Given the description of an element on the screen output the (x, y) to click on. 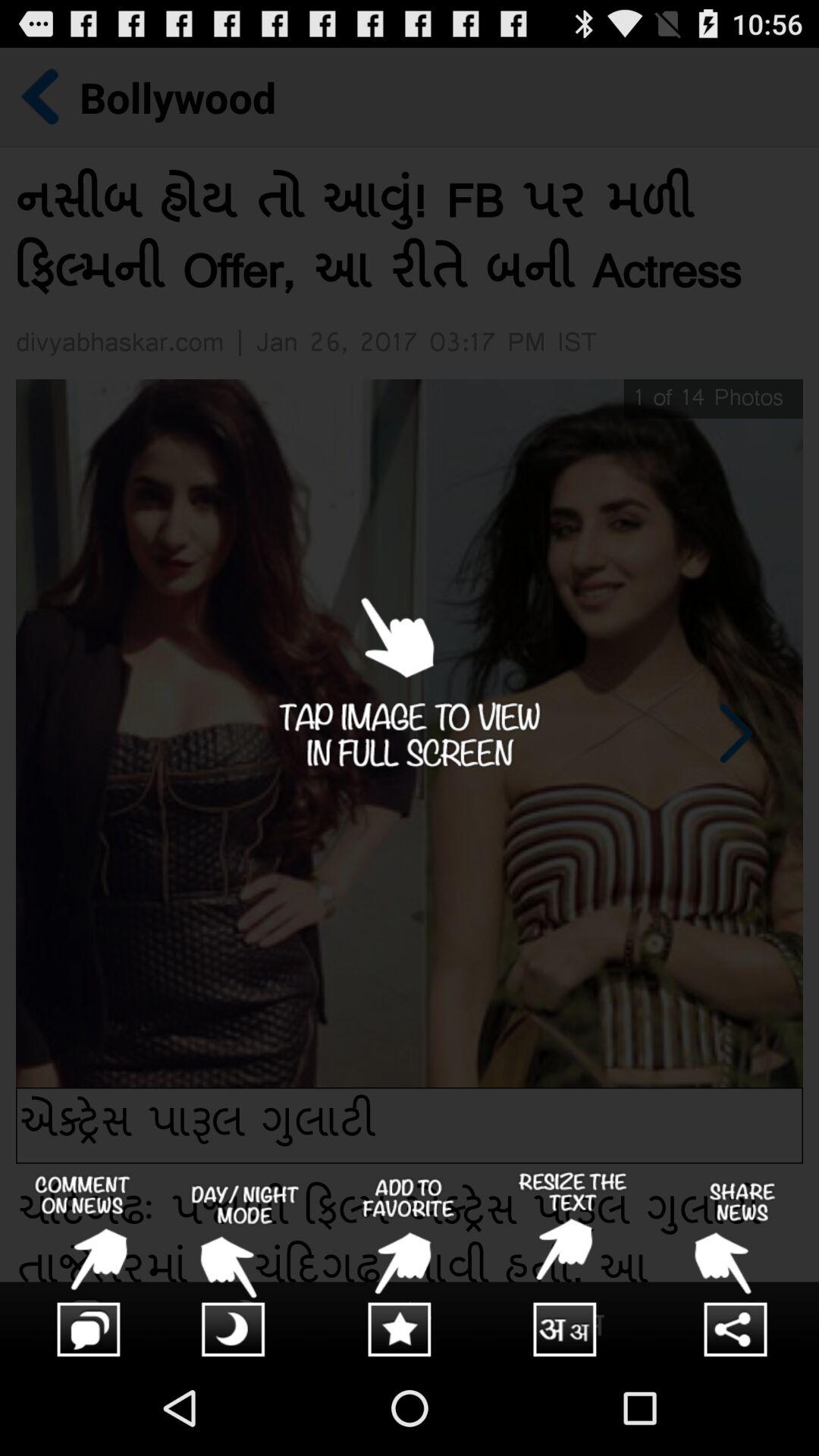
tap image to see full screen (409, 703)
